Given the description of an element on the screen output the (x, y) to click on. 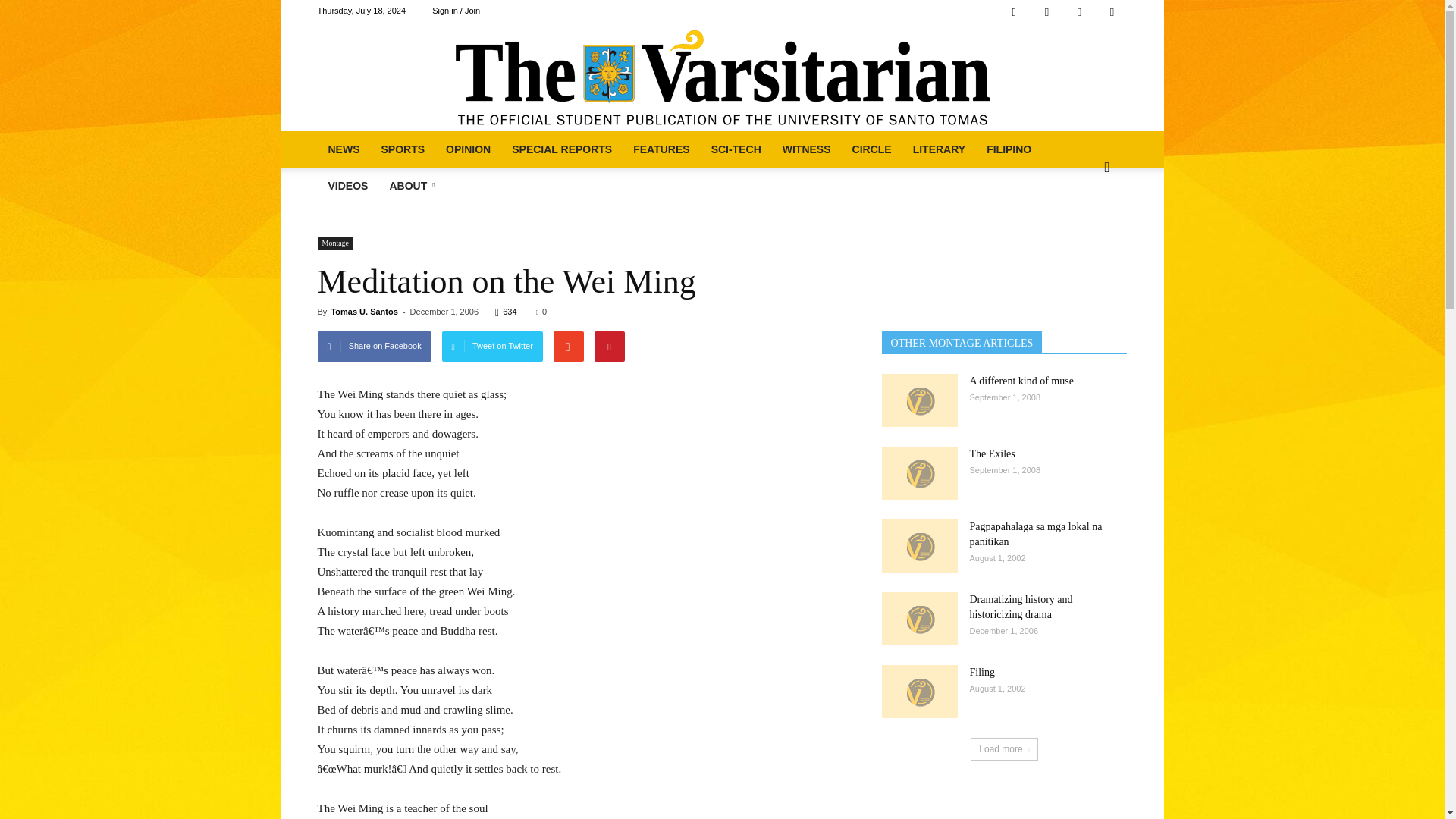
OPINION (467, 149)
Twitter (1079, 11)
Youtube (1111, 11)
A different kind of muse (1021, 380)
NEWS (343, 149)
Instagram (1045, 11)
The Varsitarian (722, 77)
A different kind of muse (918, 399)
Facebook (1013, 11)
SPORTS (402, 149)
